Given the description of an element on the screen output the (x, y) to click on. 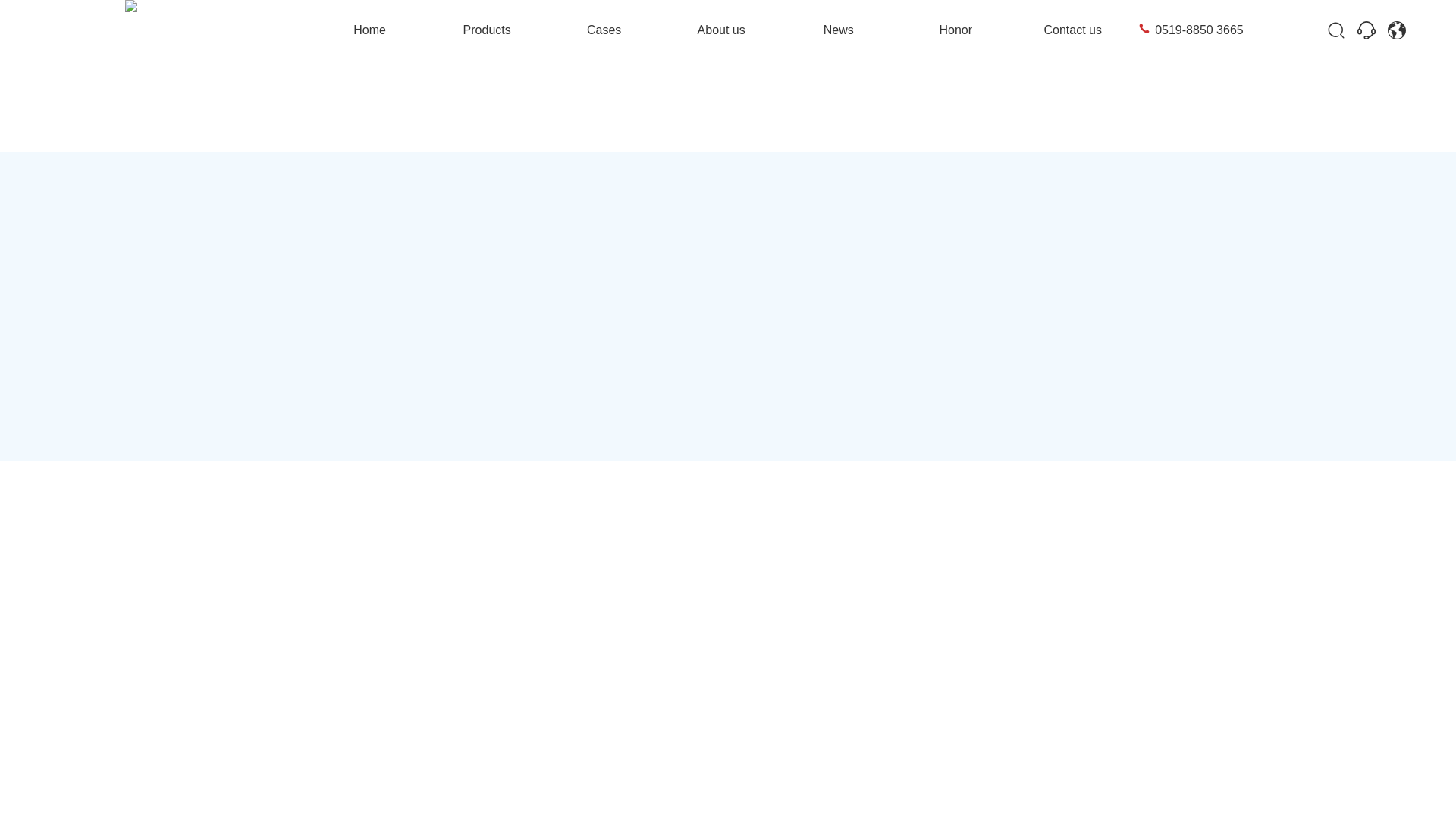
Products (486, 30)
Contact us (1073, 30)
Honor (955, 30)
Huilian (1396, 30)
About us (721, 30)
Cases (604, 30)
Home (370, 30)
0519-8850 3665 (1198, 29)
News (838, 30)
Huilian (1366, 30)
